Given the description of an element on the screen output the (x, y) to click on. 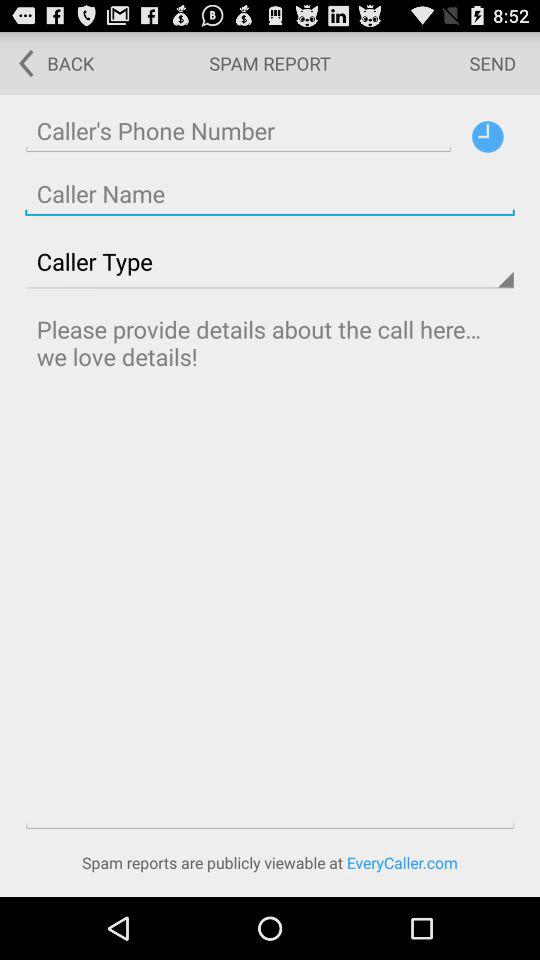
enter phone number (238, 130)
